Given the description of an element on the screen output the (x, y) to click on. 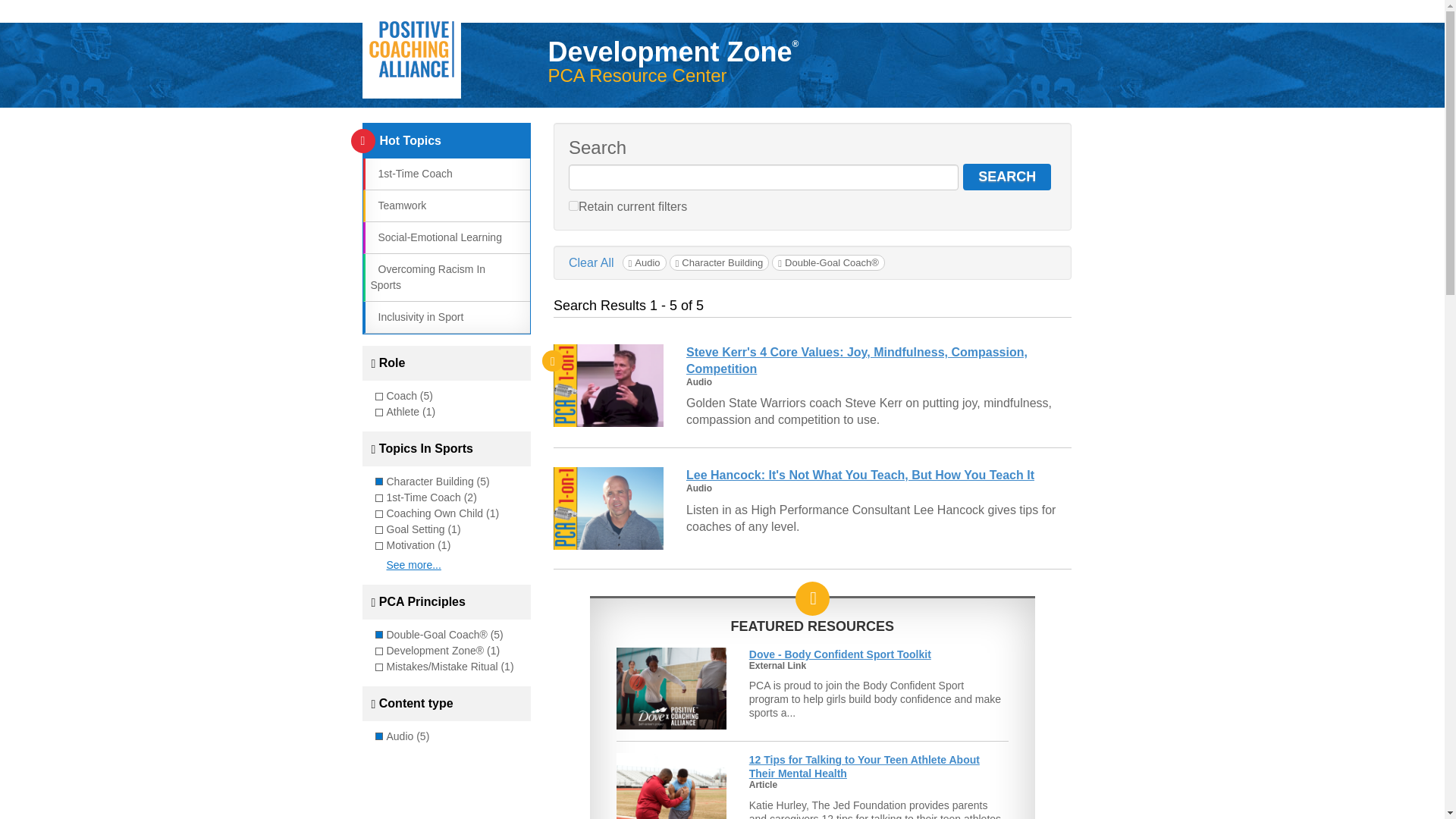
Lee Hancock: It's Not What You Teach, But How You Teach It (859, 474)
Character Building (719, 262)
Clear All (591, 262)
Overcoming Racism In Sports (426, 276)
See more... (414, 564)
Audio (644, 262)
Inclusivity in Sport (416, 316)
Dove - Body Confident Sport Toolkit (840, 654)
1 (573, 205)
1st-Time Coach (410, 173)
SEARCH (1006, 176)
Social-Emotional Learning (434, 236)
Teamwork (397, 205)
